Given the description of an element on the screen output the (x, y) to click on. 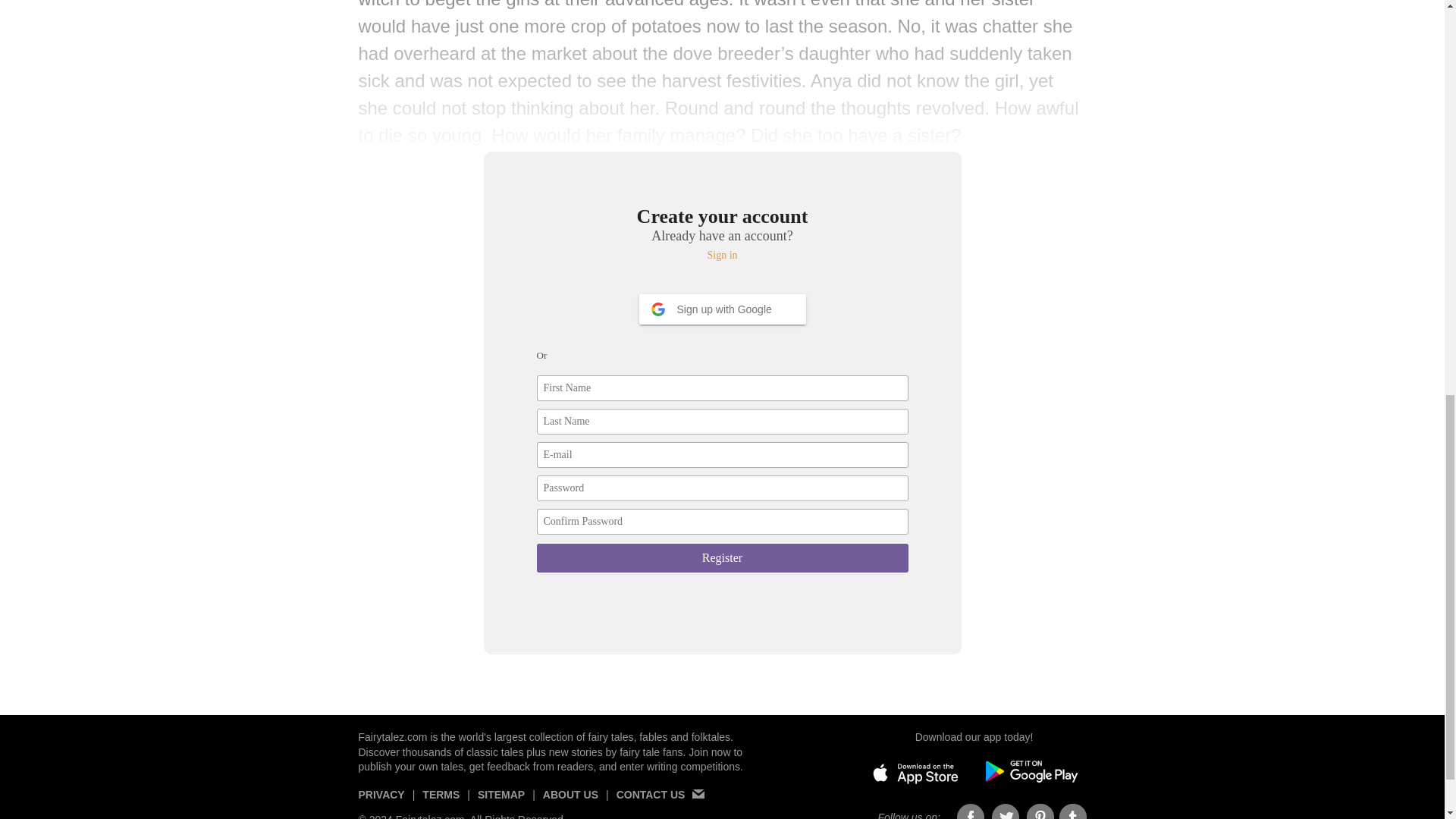
PRIVACY (381, 800)
Fairytalez.com (392, 736)
Sign up with Google (722, 309)
Privacy (381, 800)
Register (722, 557)
Sign in (722, 255)
Follow us on  Facebook (971, 811)
Sitemap (500, 800)
Follow us on Pinterest (1041, 811)
Follow us on Tumblr (1072, 811)
Follow us on Twitter (1006, 811)
TERMS (441, 800)
